Given the description of an element on the screen output the (x, y) to click on. 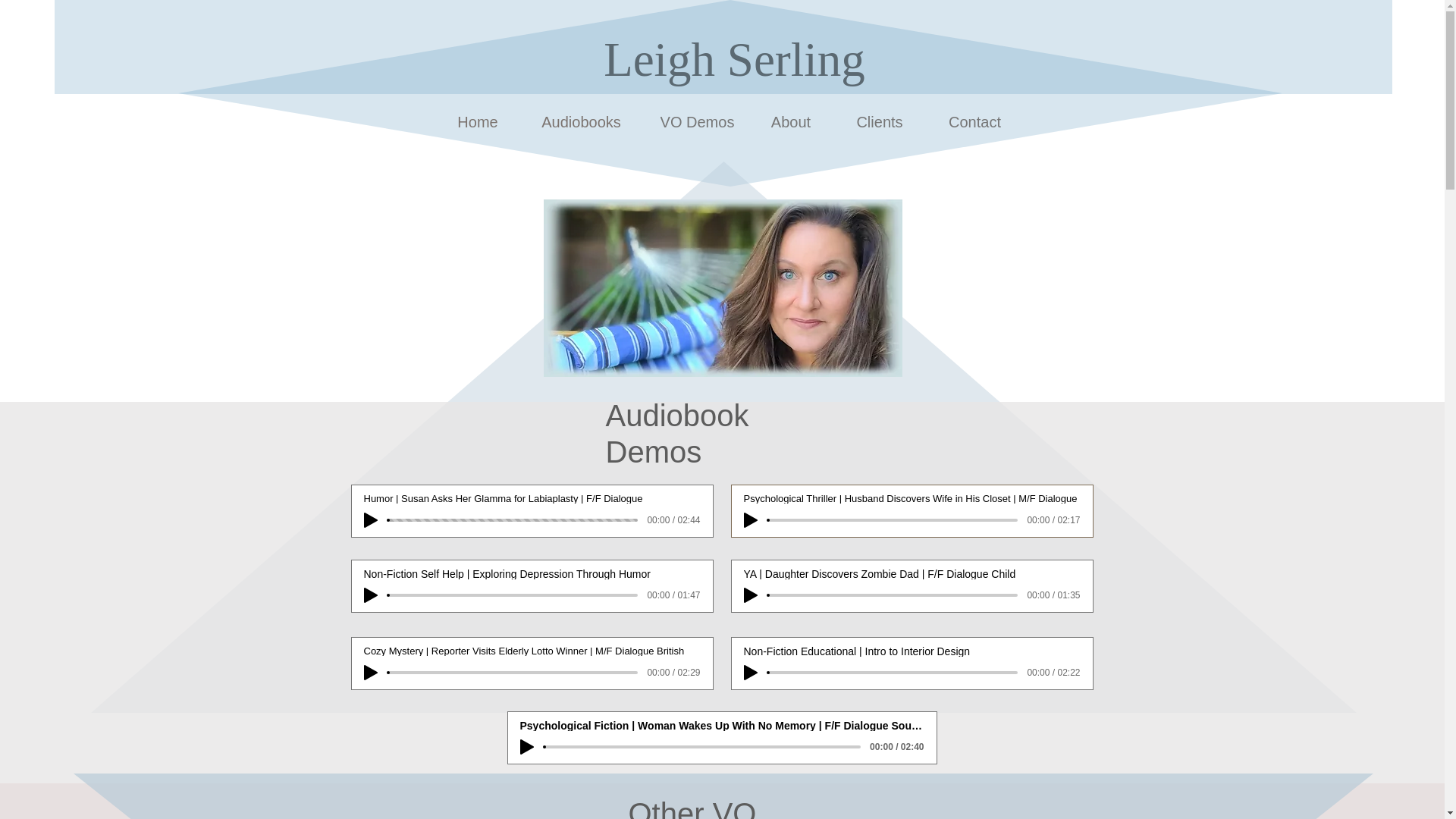
0 (513, 519)
Audiobooks (580, 122)
Clients (879, 122)
About (790, 122)
0 (892, 595)
0 (513, 595)
VO Demos (697, 122)
0 (702, 746)
Contact (974, 122)
Home (477, 122)
